Given the description of an element on the screen output the (x, y) to click on. 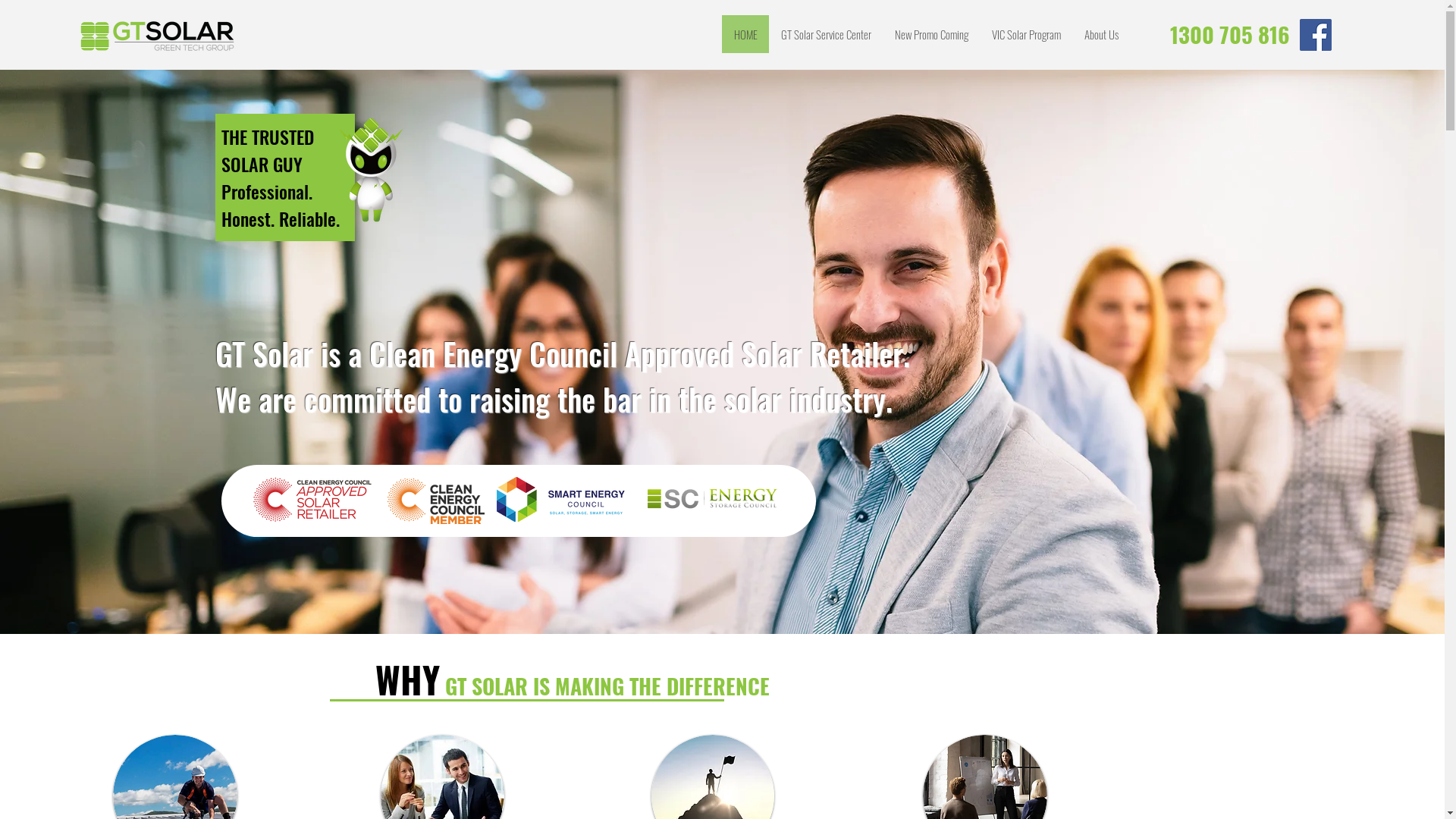
New Promo Coming Element type: text (930, 34)
GT Solar Service Center Element type: text (825, 34)
VIC Solar Program Element type: text (1025, 34)
About Us Element type: text (1100, 34)
1300 705 816 Element type: text (1229, 34)
HOME Element type: text (744, 34)
